Given the description of an element on the screen output the (x, y) to click on. 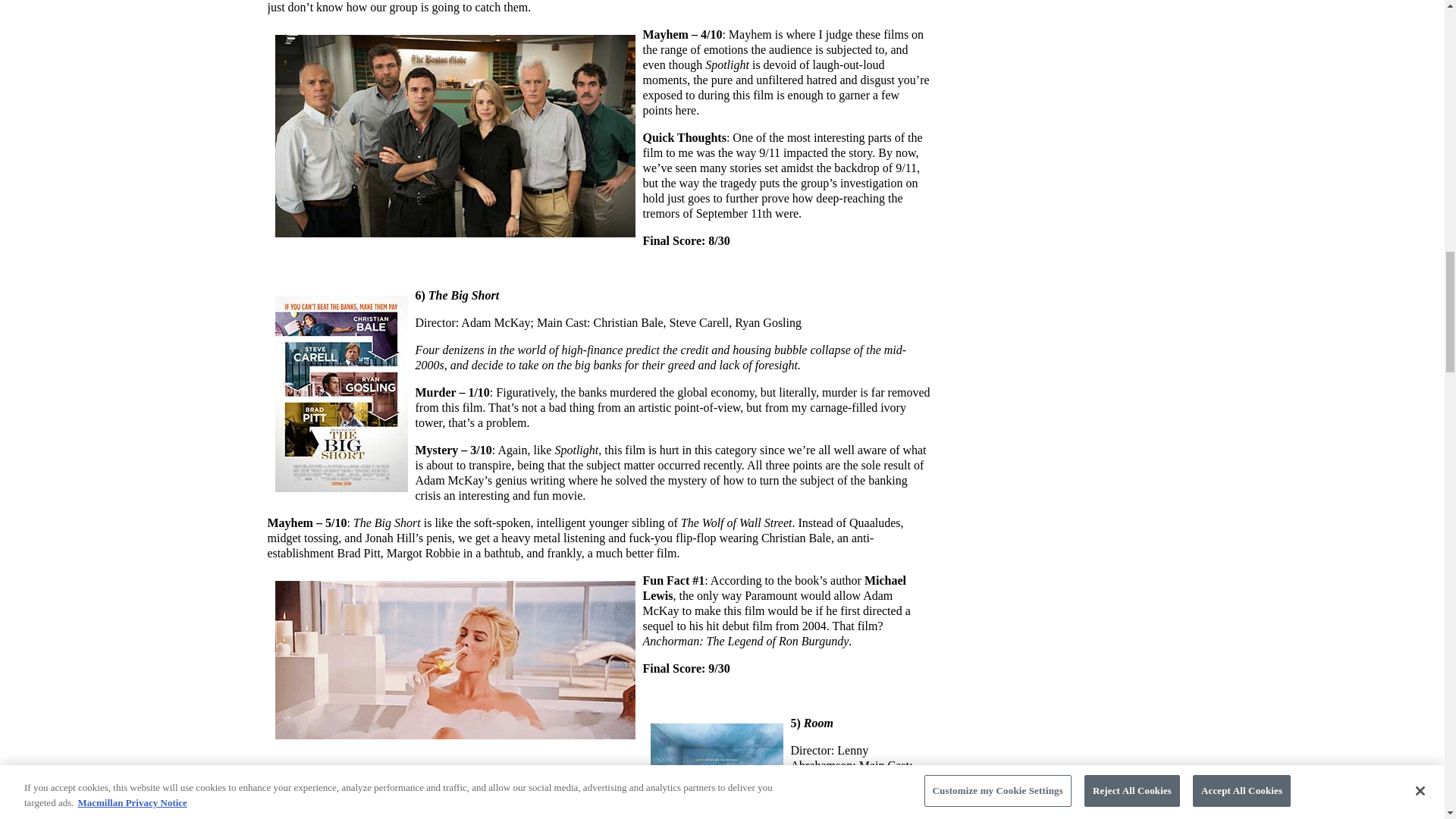
You have my full attention. (454, 659)
